Given the description of an element on the screen output the (x, y) to click on. 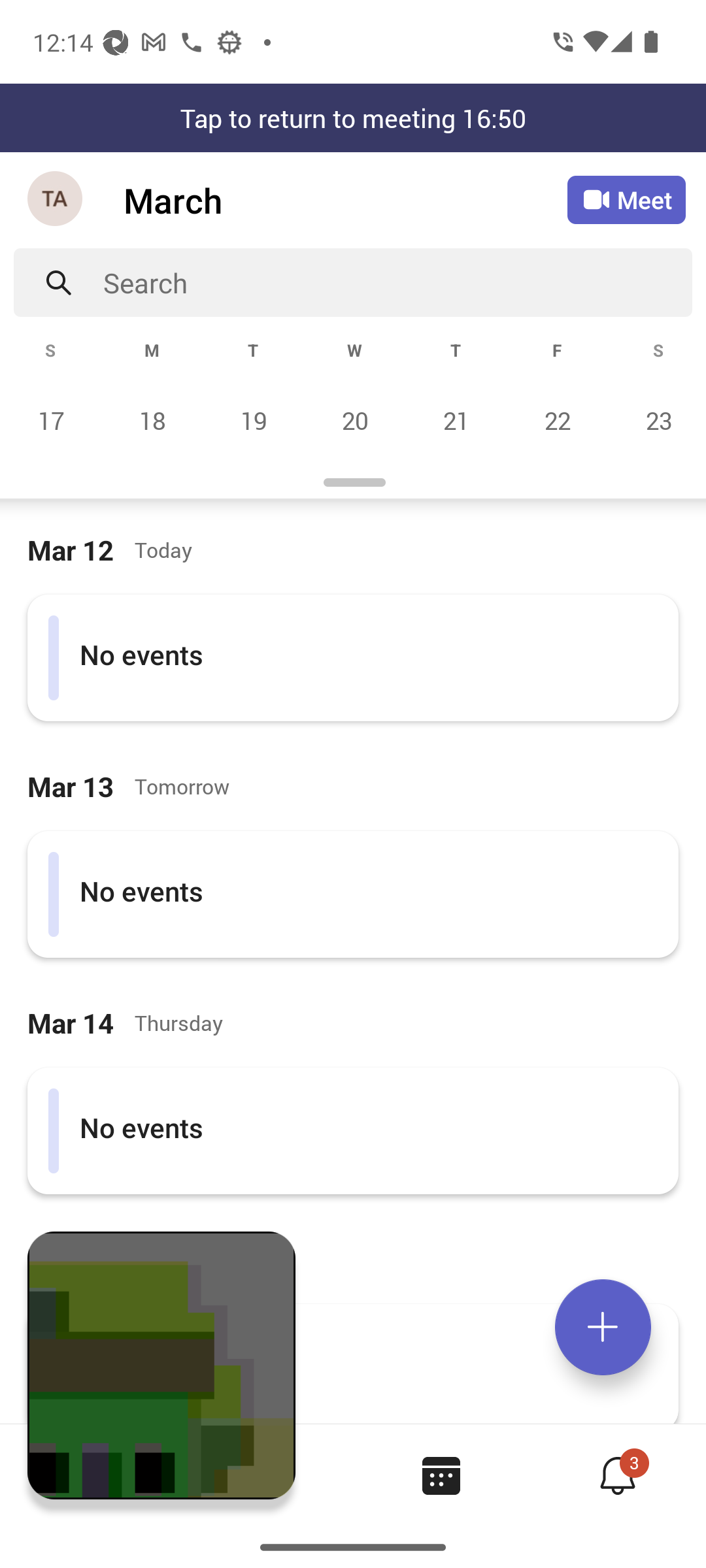
Tap to return to meeting 16:50 (353, 117)
Navigation (56, 199)
Meet Meet now or join with an ID (626, 199)
March March Calendar Agenda View (345, 199)
Search (397, 281)
Sunday, March 17 17 (50, 420)
Monday, March 18 18 (151, 420)
Tuesday, March 19 19 (253, 420)
Wednesday, March 20 20 (354, 420)
Thursday, March 21 21 (455, 420)
Friday, March 22 22 (556, 420)
Saturday, March 23 23 (656, 420)
Expand meetings menu (602, 1327)
Calendar tab, 3 of 4 (441, 1475)
Activity tab,4 of 4, not selected, 3 new 3 (617, 1475)
